Given the description of an element on the screen output the (x, y) to click on. 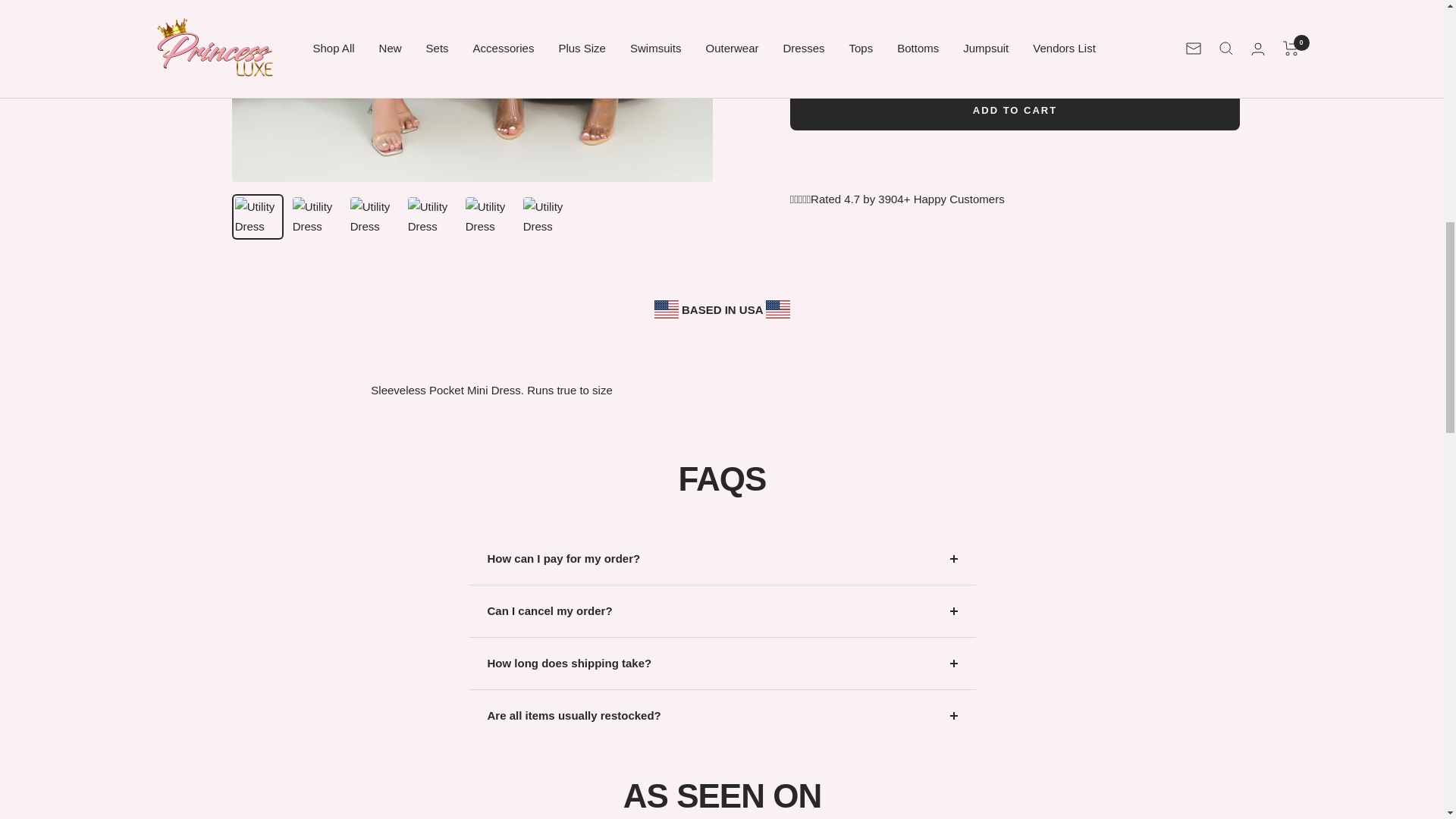
Can I cancel my order? (721, 611)
How can I pay for my order? (721, 558)
1 (843, 48)
ADD TO CART (1015, 110)
Increase quantity (878, 48)
Decrease quantity (807, 48)
